Given the description of an element on the screen output the (x, y) to click on. 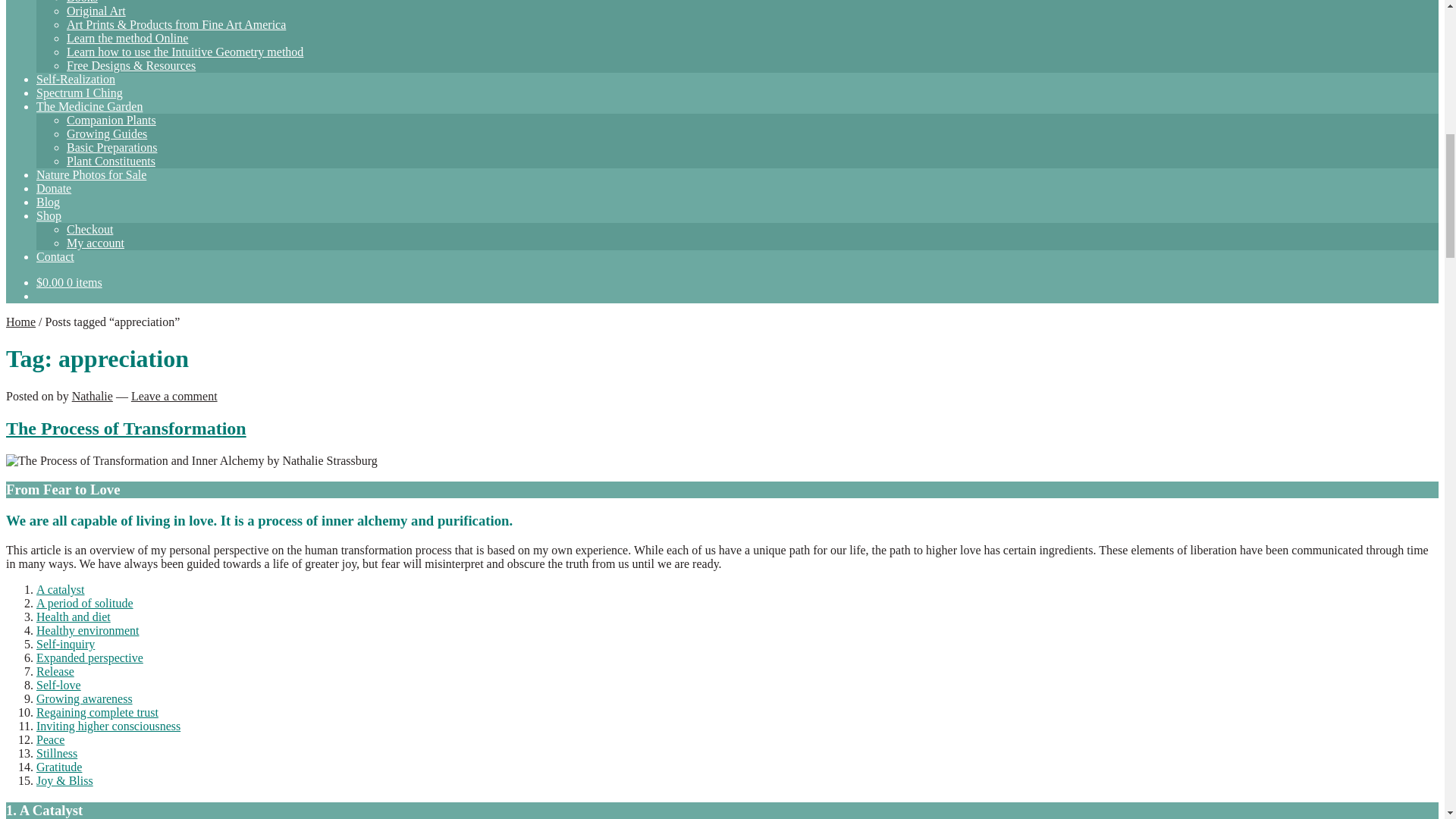
View your shopping cart (68, 282)
